Given the description of an element on the screen output the (x, y) to click on. 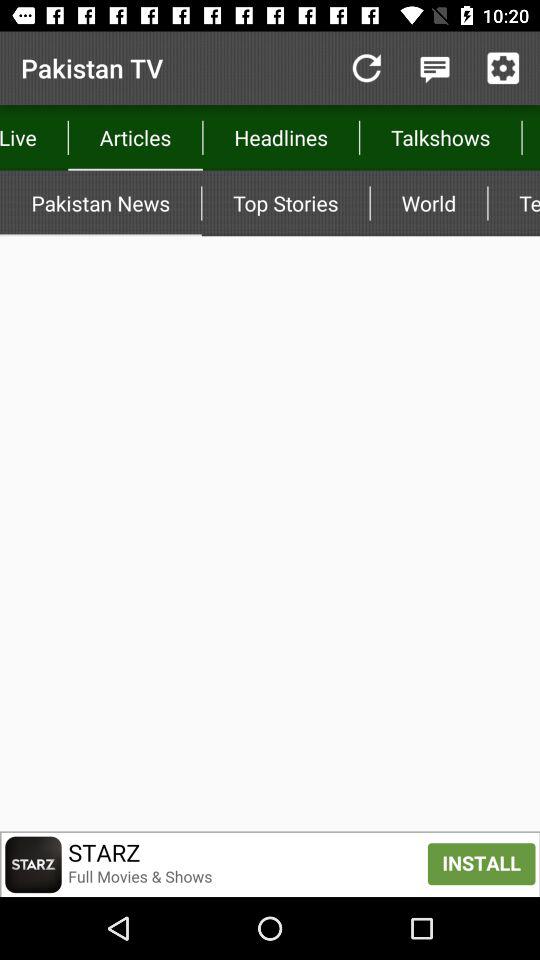
click here to discuss shows with other watchers (434, 67)
